Given the description of an element on the screen output the (x, y) to click on. 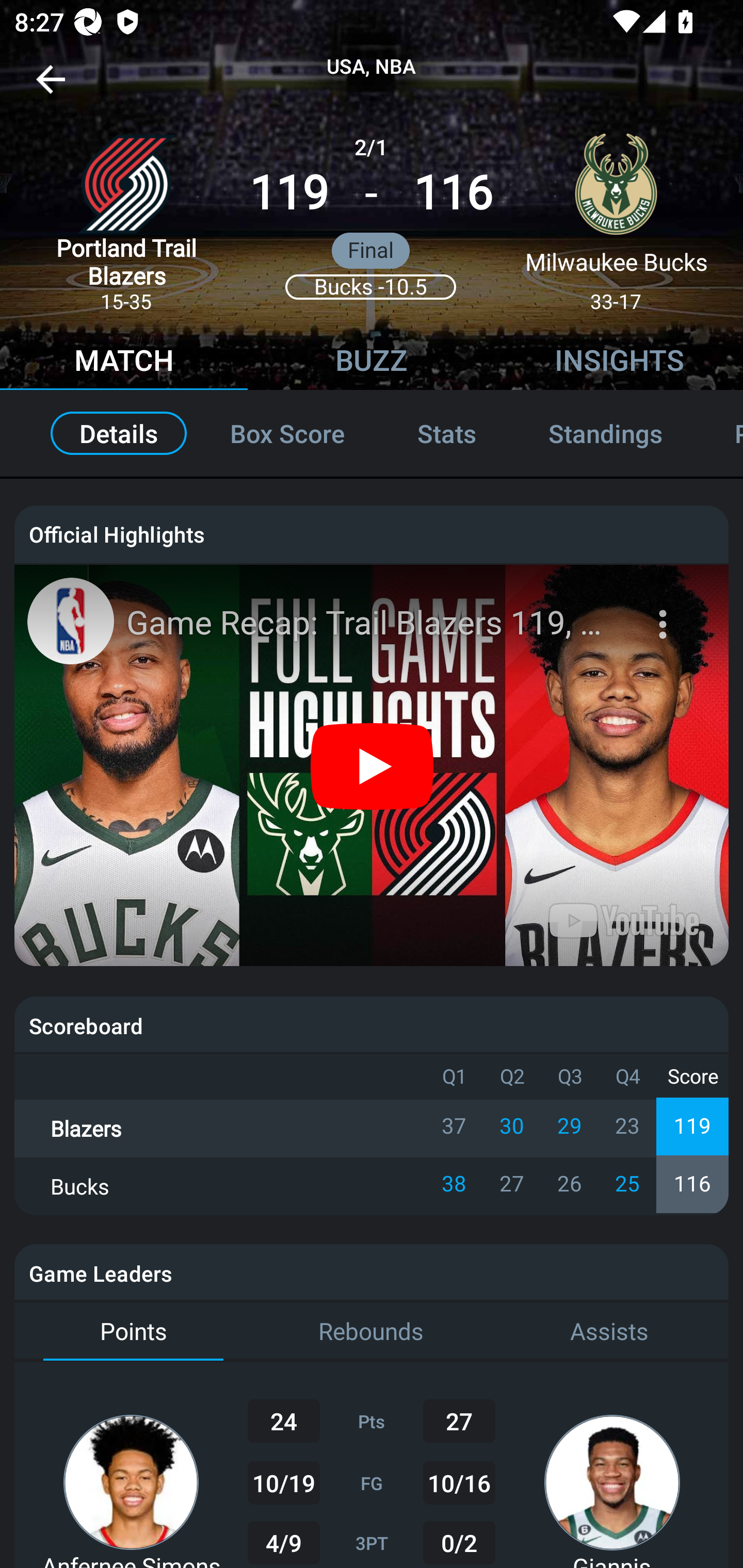
Navigate up (50, 86)
USA, NBA (371, 66)
Portland Trail Blazers 15-35 (126, 214)
Milwaukee Bucks 33-17 (616, 214)
119 (288, 192)
116 (453, 192)
MATCH (123, 362)
BUZZ (371, 362)
INSIGHTS (619, 362)
Box Score (287, 433)
Stats (446, 433)
Standings (605, 433)
Official Highlights (371, 533)
More (665, 612)
Photo image of Motion Station (70, 620)
Game Recap: Trail Blazers 119, Bucks 116 (373, 623)
Play (372, 765)
Rebounds (371, 1332)
Assists (609, 1332)
